Given the description of an element on the screen output the (x, y) to click on. 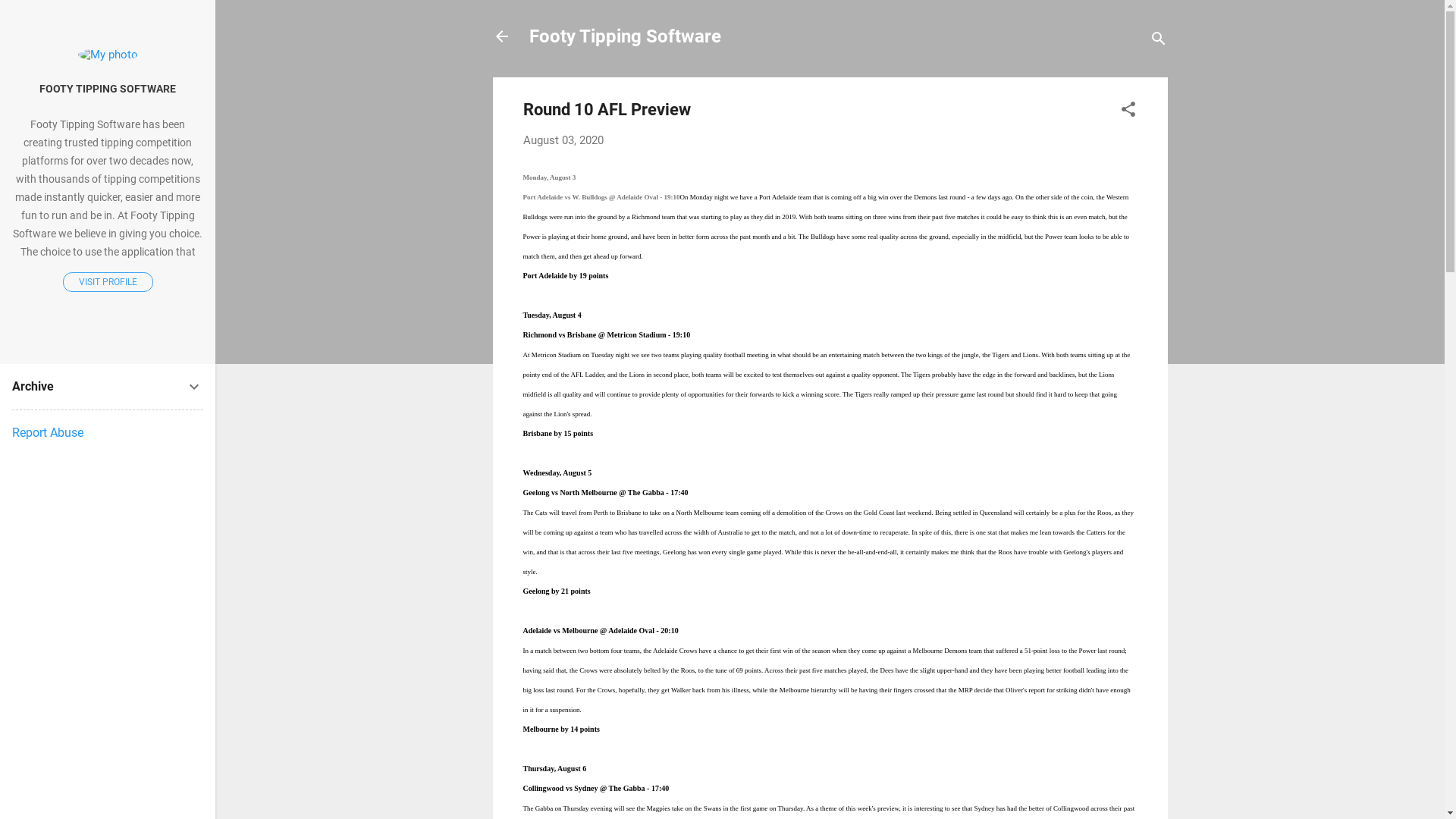
FOOTY TIPPING SOFTWARE Element type: text (107, 88)
August 03, 2020 Element type: text (563, 140)
VISIT PROFILE Element type: text (107, 281)
Report Abuse Element type: text (47, 432)
Search Element type: text (28, 18)
Footy Tipping Software Element type: text (625, 36)
